Given the description of an element on the screen output the (x, y) to click on. 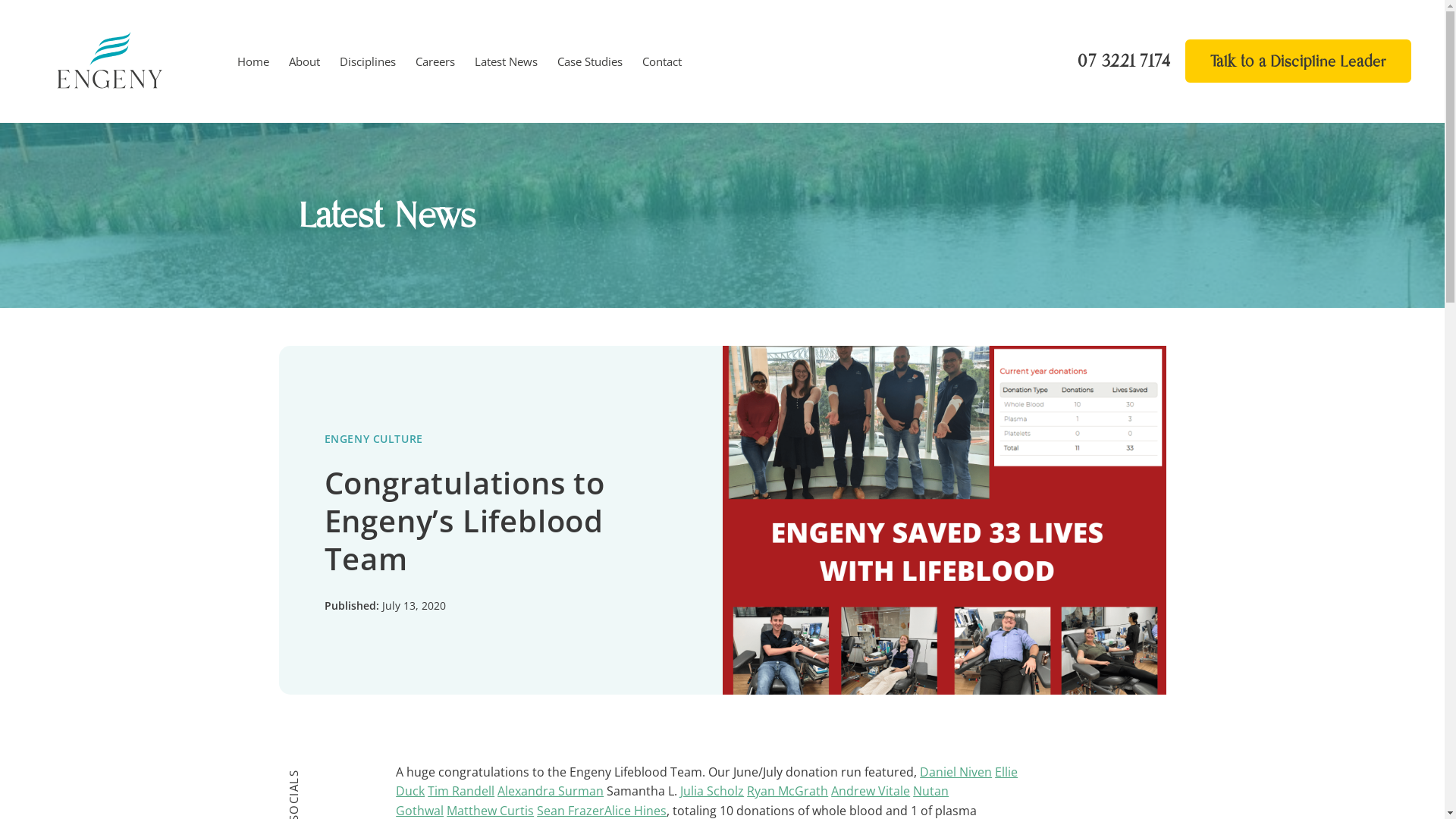
Talk to a Discipline Leader Element type: text (1297, 60)
Alexandra Surman Element type: text (550, 790)
Disciplines Element type: text (367, 60)
Careers Element type: text (434, 60)
About Element type: text (304, 60)
Contact Element type: text (661, 60)
Ryan McGrath Element type: text (787, 790)
Home Element type: text (253, 60)
Latest News Element type: text (505, 60)
ENGENY CULTURE Element type: text (373, 438)
Ellie Duck Element type: text (706, 781)
Daniel Niven Element type: text (955, 771)
Case Studies Element type: text (589, 60)
Tim Randell Element type: text (460, 790)
Julia Scholz Element type: text (711, 790)
Andrew Vitale Element type: text (870, 790)
07 3221 7174 Element type: text (1123, 61)
